Given the description of an element on the screen output the (x, y) to click on. 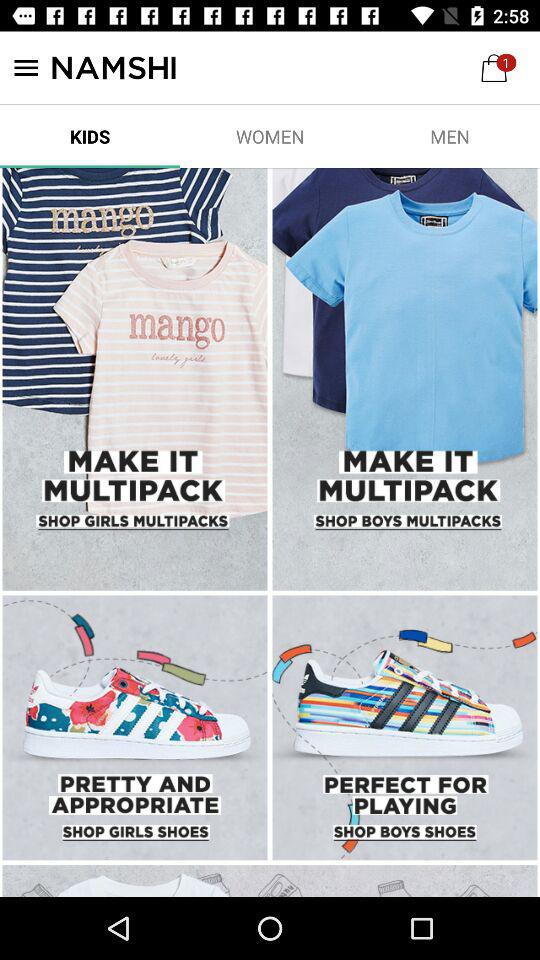
choose the icon to the left of the men (270, 136)
